Given the description of an element on the screen output the (x, y) to click on. 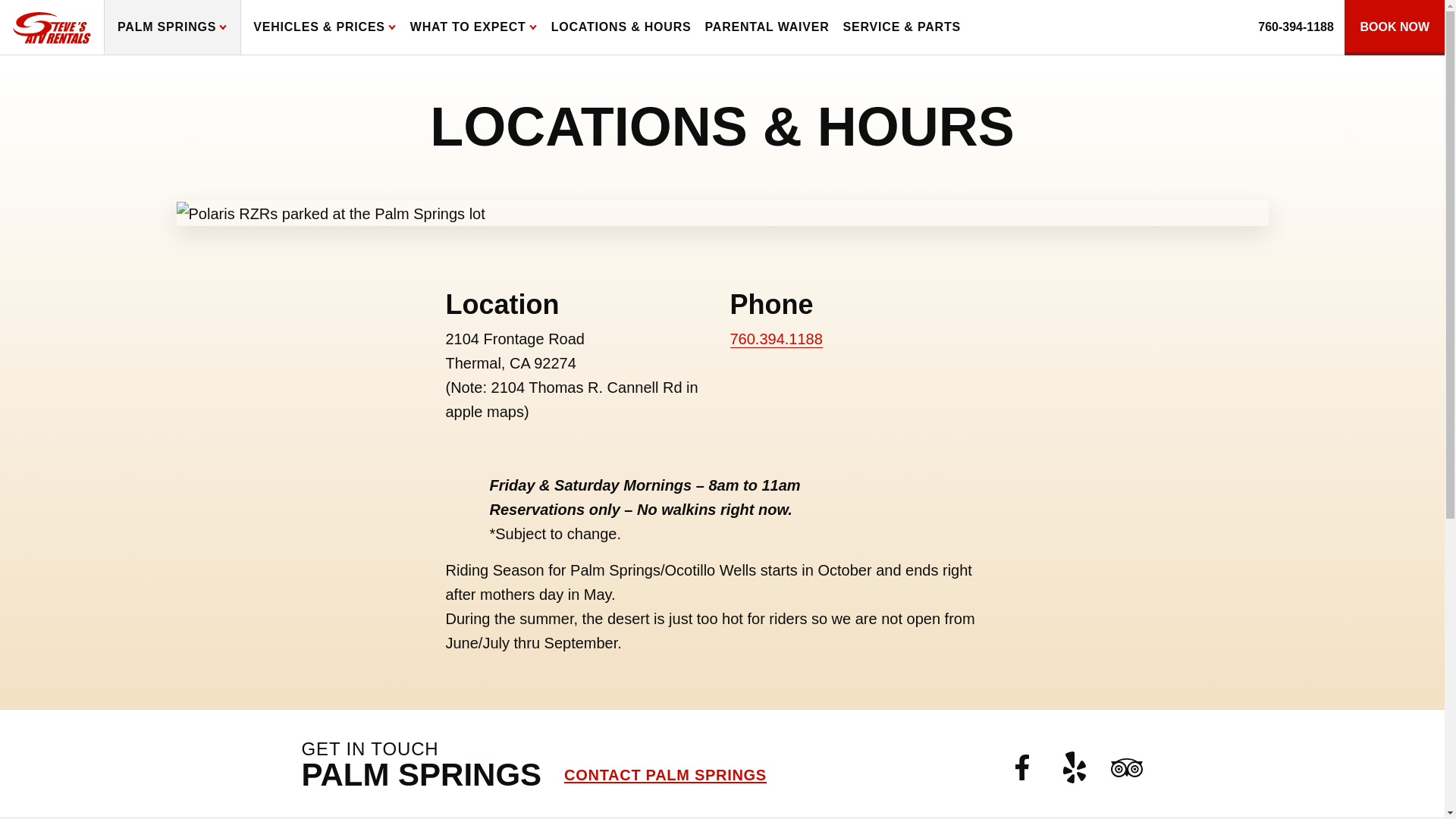
PALM SPRINGS (172, 27)
Steve's ATV Rentals logo (51, 27)
WHAT TO EXPECT (473, 27)
